Given the description of an element on the screen output the (x, y) to click on. 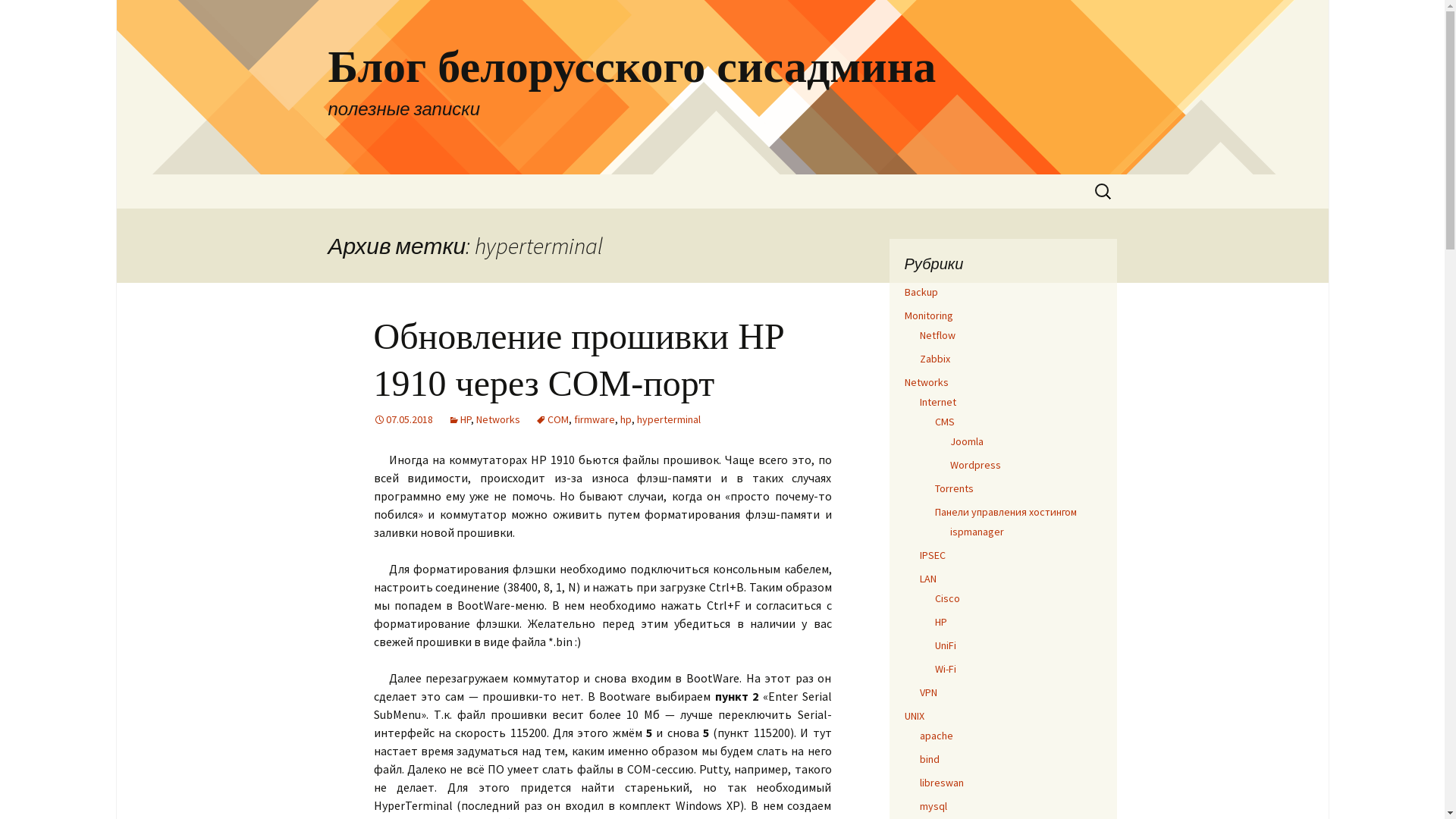
Netflow Element type: text (936, 335)
UNIX Element type: text (913, 715)
UniFi Element type: text (944, 645)
libreswan Element type: text (941, 782)
Monitoring Element type: text (927, 315)
Wordpress Element type: text (974, 464)
hp Element type: text (625, 419)
firmware Element type: text (593, 419)
hyperterminal Element type: text (668, 419)
IPSEC Element type: text (931, 554)
COM Element type: text (551, 419)
Zabbix Element type: text (934, 358)
Backup Element type: text (920, 291)
HP Element type: text (940, 621)
apache Element type: text (935, 735)
Joomla Element type: text (965, 441)
HP Element type: text (458, 419)
mysql Element type: text (932, 805)
VPN Element type: text (927, 692)
07.05.2018 Element type: text (402, 419)
Networks Element type: text (498, 419)
LAN Element type: text (927, 578)
Networks Element type: text (925, 382)
ispmanager Element type: text (976, 531)
bind Element type: text (928, 758)
Wi-Fi Element type: text (944, 668)
Cisco Element type: text (946, 598)
CMS Element type: text (943, 421)
Internet Element type: text (937, 401)
Torrents Element type: text (953, 488)
